Given the description of an element on the screen output the (x, y) to click on. 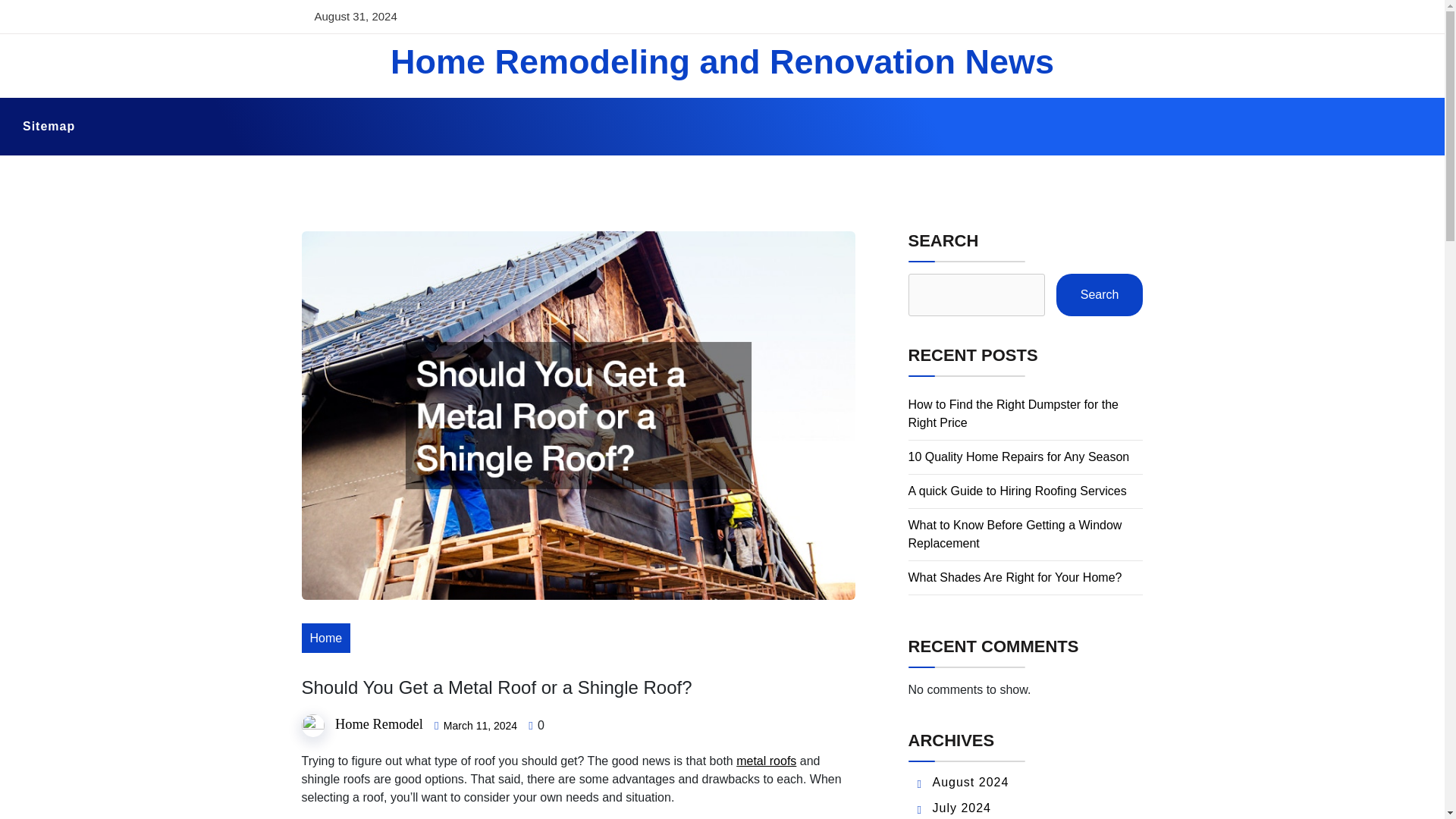
metal roofs (766, 760)
Home (325, 637)
March 11, 2024 (480, 726)
Home Remodel (378, 724)
A quick Guide to Hiring Roofing Services (1017, 490)
What Shades Are Right for Your Home? (1015, 576)
How to Find the Right Dumpster for the Right Price (1013, 413)
July 2024 (962, 807)
August 2024 (971, 781)
Search (1099, 294)
